Given the description of an element on the screen output the (x, y) to click on. 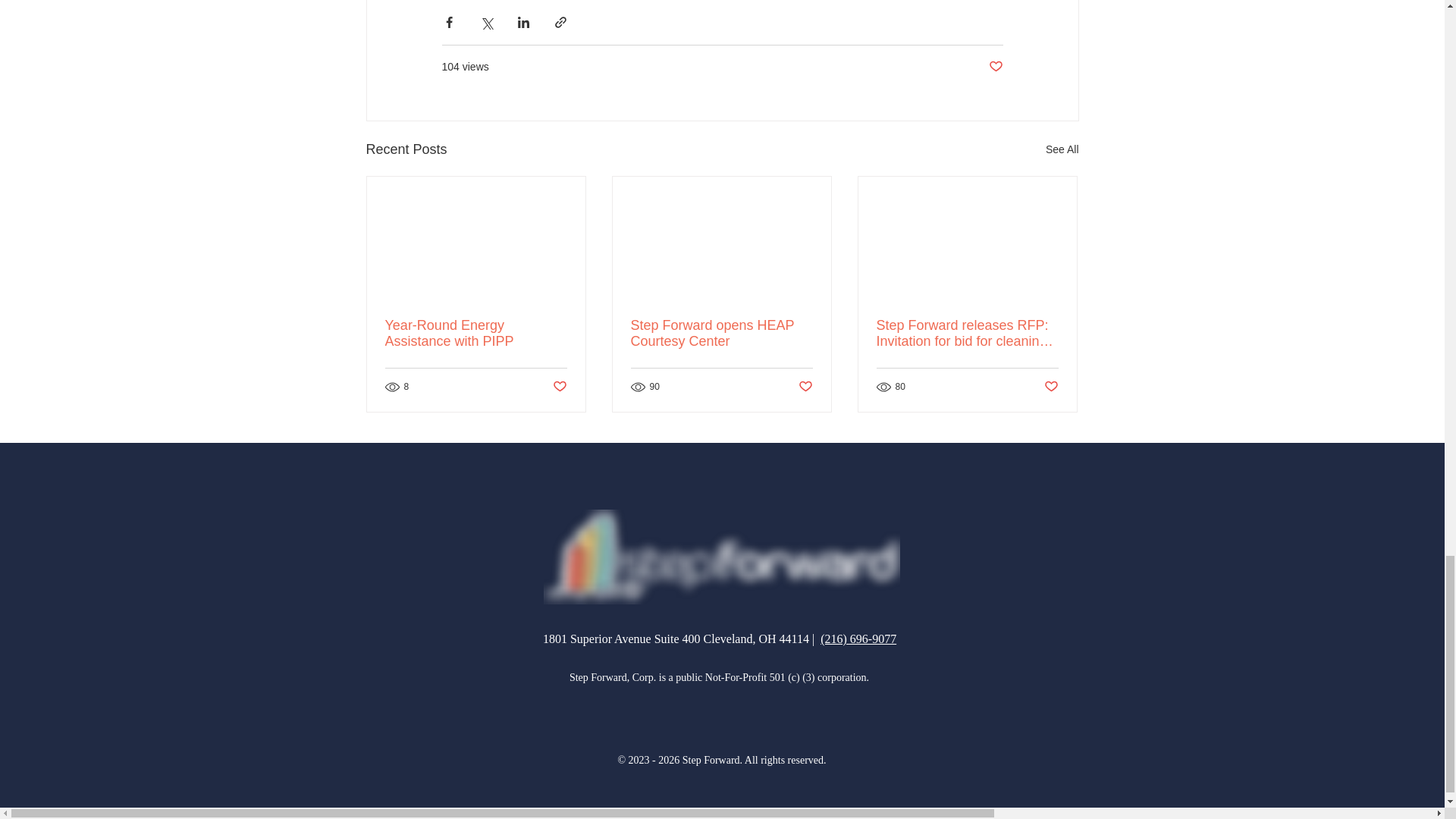
Step Forward Logo (721, 556)
